Given the description of an element on the screen output the (x, y) to click on. 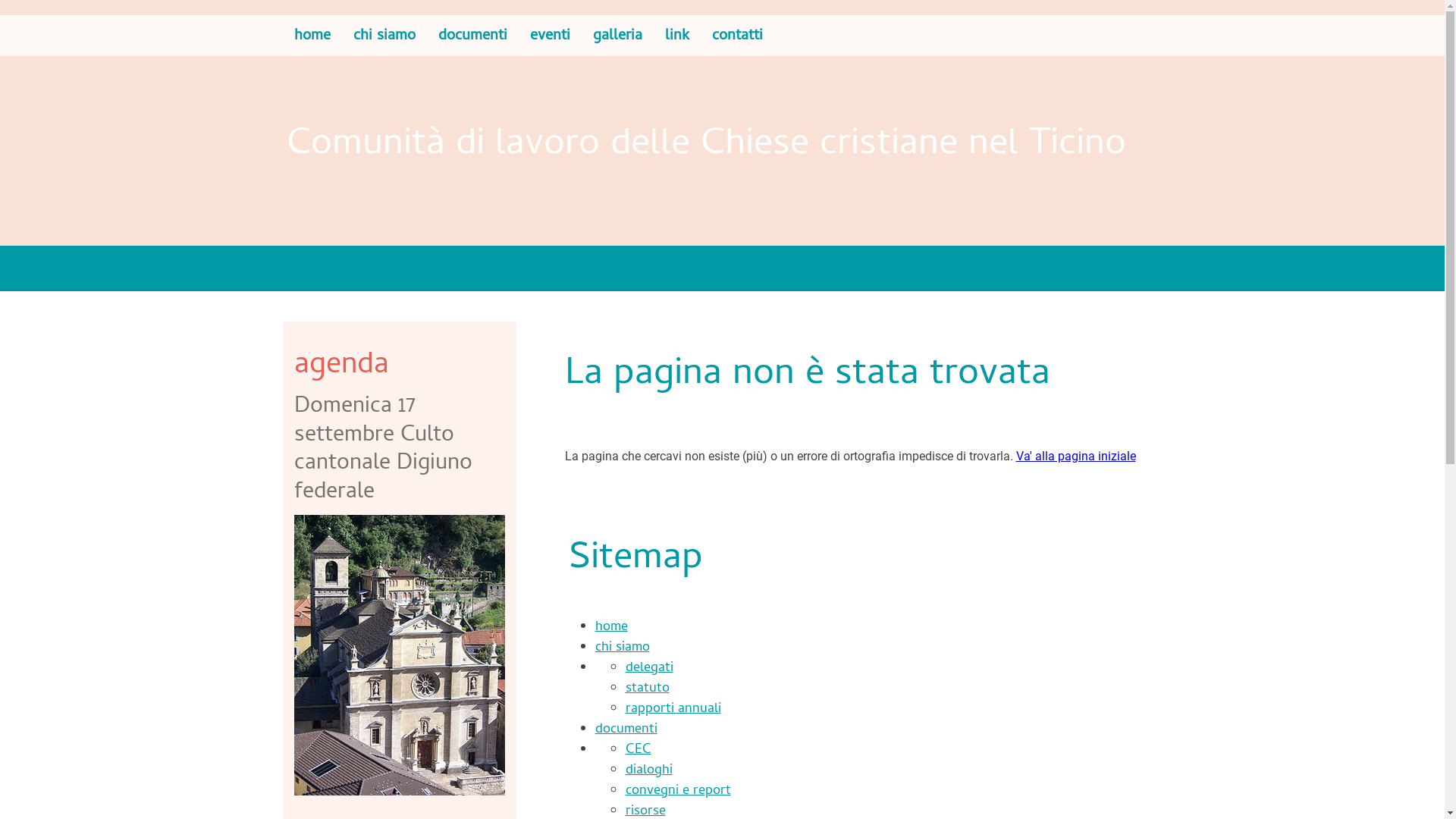
eventi Element type: text (549, 35)
home Element type: text (311, 35)
convegni e report Element type: text (677, 791)
dialoghi Element type: text (647, 770)
CEC Element type: text (637, 750)
galleria Element type: text (616, 35)
documenti Element type: text (625, 729)
chi siamo Element type: text (621, 647)
link Element type: text (676, 35)
home Element type: text (610, 627)
statuto Element type: text (646, 688)
contatti Element type: text (737, 35)
delegati Element type: text (648, 668)
rapporti annuali Element type: text (672, 709)
chi siamo Element type: text (383, 35)
documenti Element type: text (471, 35)
Va' alla pagina iniziale Element type: text (1075, 455)
